Given the description of an element on the screen output the (x, y) to click on. 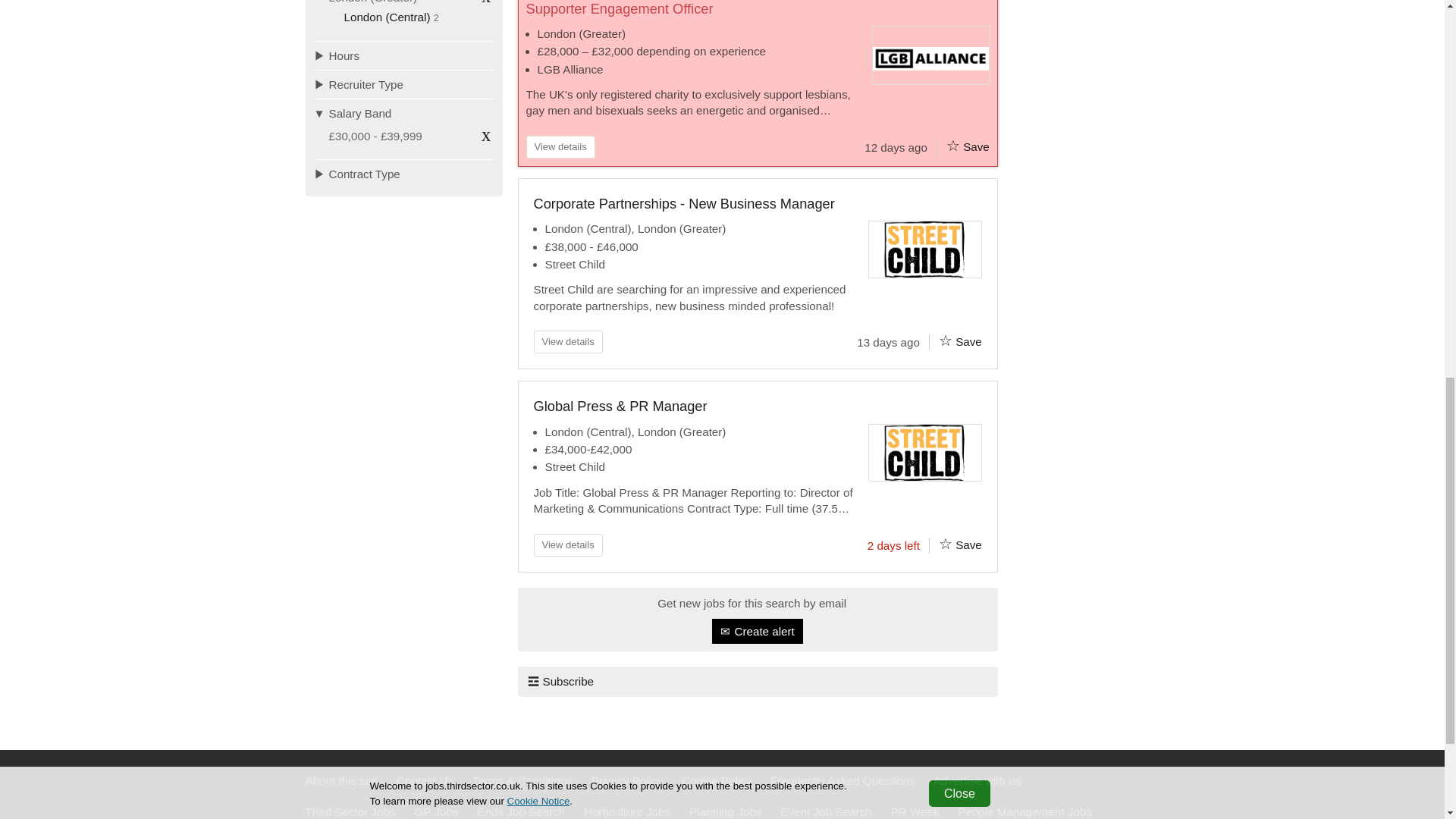
Hours (404, 54)
Remove selection (486, 4)
